Given the description of an element on the screen output the (x, y) to click on. 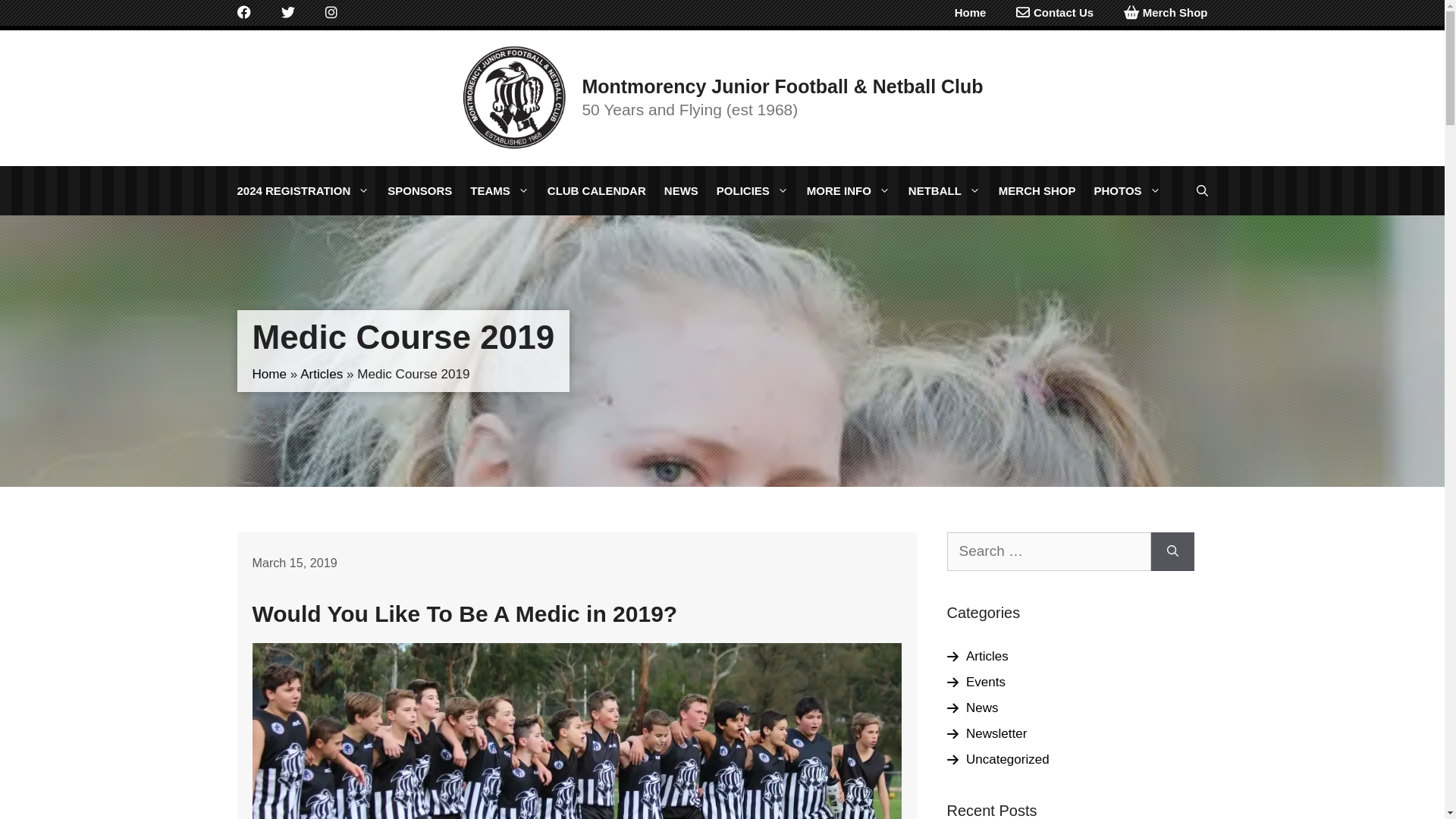
Uncategorized Element type: text (1007, 759)
MORE INFO Element type: text (848, 190)
News Element type: text (982, 707)
PHOTOS Element type: text (1126, 190)
Merch Shop Element type: text (1165, 12)
NETBALL Element type: text (944, 190)
Articles Element type: text (321, 374)
Montmorency Junior Football & Netball Club Element type: text (781, 86)
CLUB CALENDAR Element type: text (596, 190)
Articles Element type: text (987, 656)
Events Element type: text (985, 681)
2024 REGISTRATION Element type: text (302, 190)
Newsletter Element type: text (996, 733)
Search for: Element type: hover (1048, 551)
Twitter Element type: hover (287, 12)
Home Element type: text (968, 12)
TEAMS Element type: text (499, 190)
Instagram Element type: hover (330, 12)
NEWS Element type: text (681, 190)
Facebook Element type: hover (243, 12)
Home Element type: text (268, 374)
POLICIES Element type: text (752, 190)
SPONSORS Element type: text (419, 190)
MERCH SHOP Element type: text (1037, 190)
Contact Us Element type: text (1054, 12)
